Given the description of an element on the screen output the (x, y) to click on. 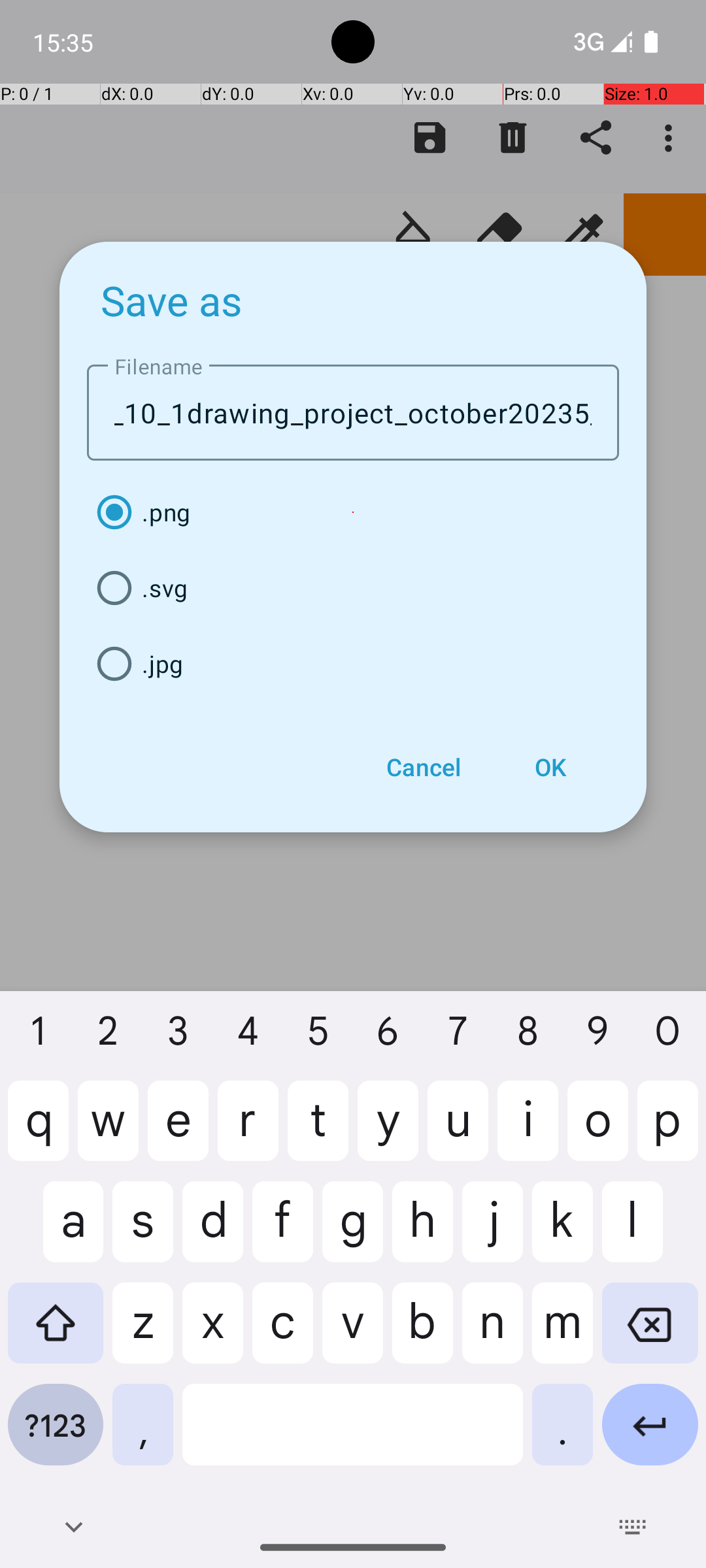
Save as Element type: android.widget.TextView (171, 299)
image_2023_10_1drawing_project_october20235_15_34_17 Element type: android.widget.EditText (352, 412)
.png Element type: android.widget.RadioButton (352, 512)
.svg Element type: android.widget.RadioButton (352, 587)
.jpg Element type: android.widget.RadioButton (352, 663)
